Given the description of an element on the screen output the (x, y) to click on. 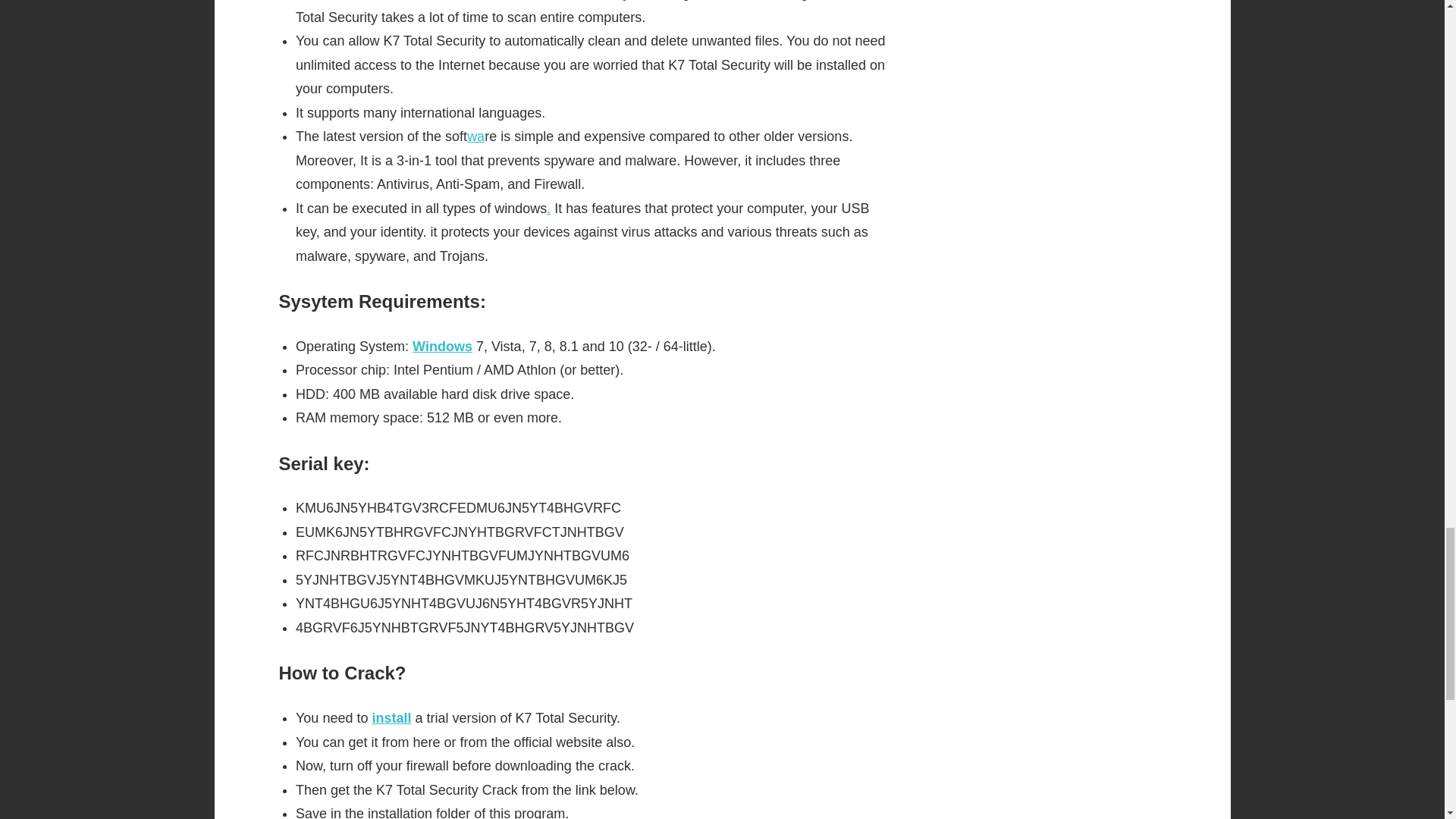
Windows (441, 346)
install (390, 717)
wa (475, 136)
